Given the description of an element on the screen output the (x, y) to click on. 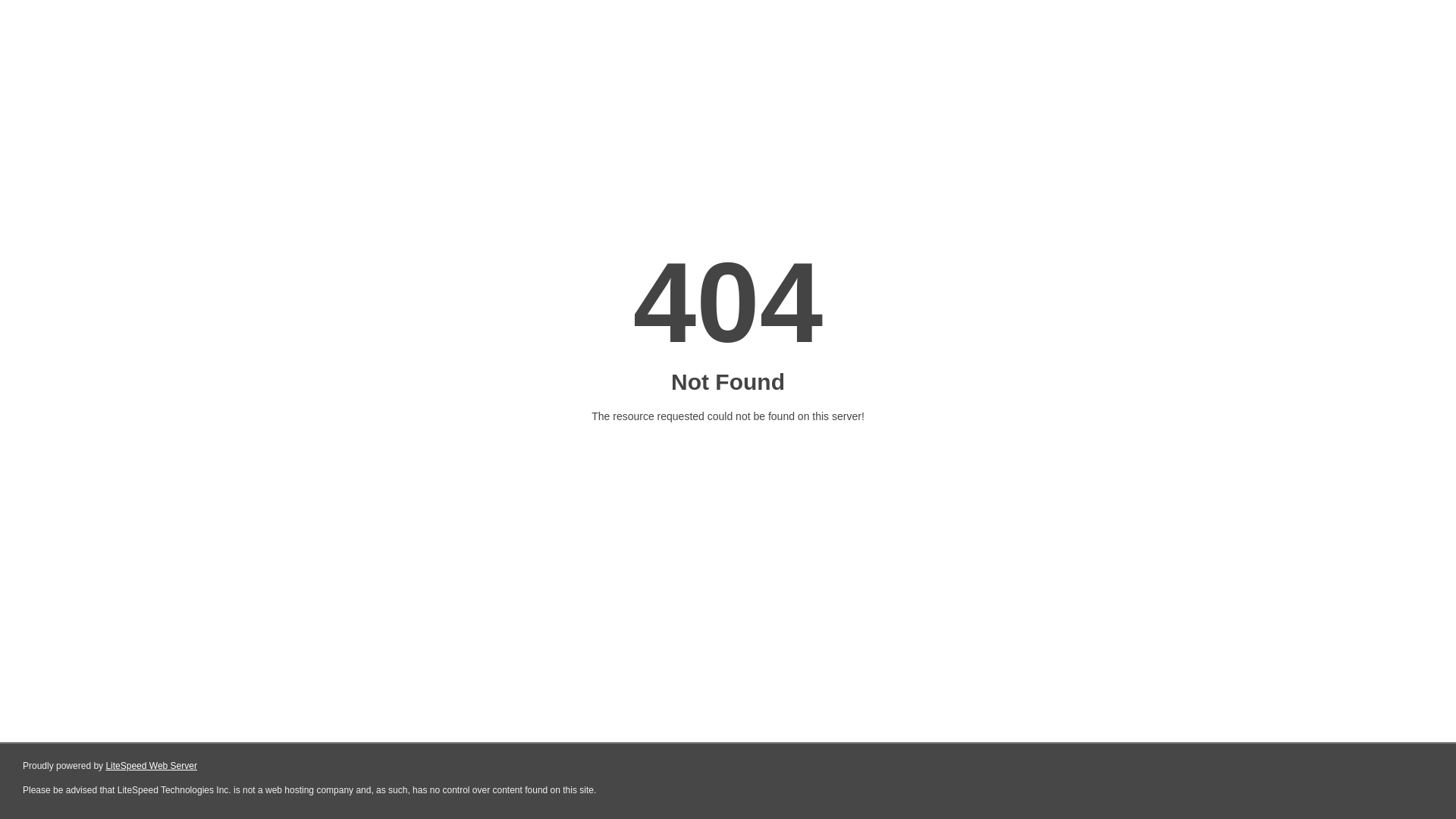
LiteSpeed Web Server Element type: text (151, 765)
